Given the description of an element on the screen output the (x, y) to click on. 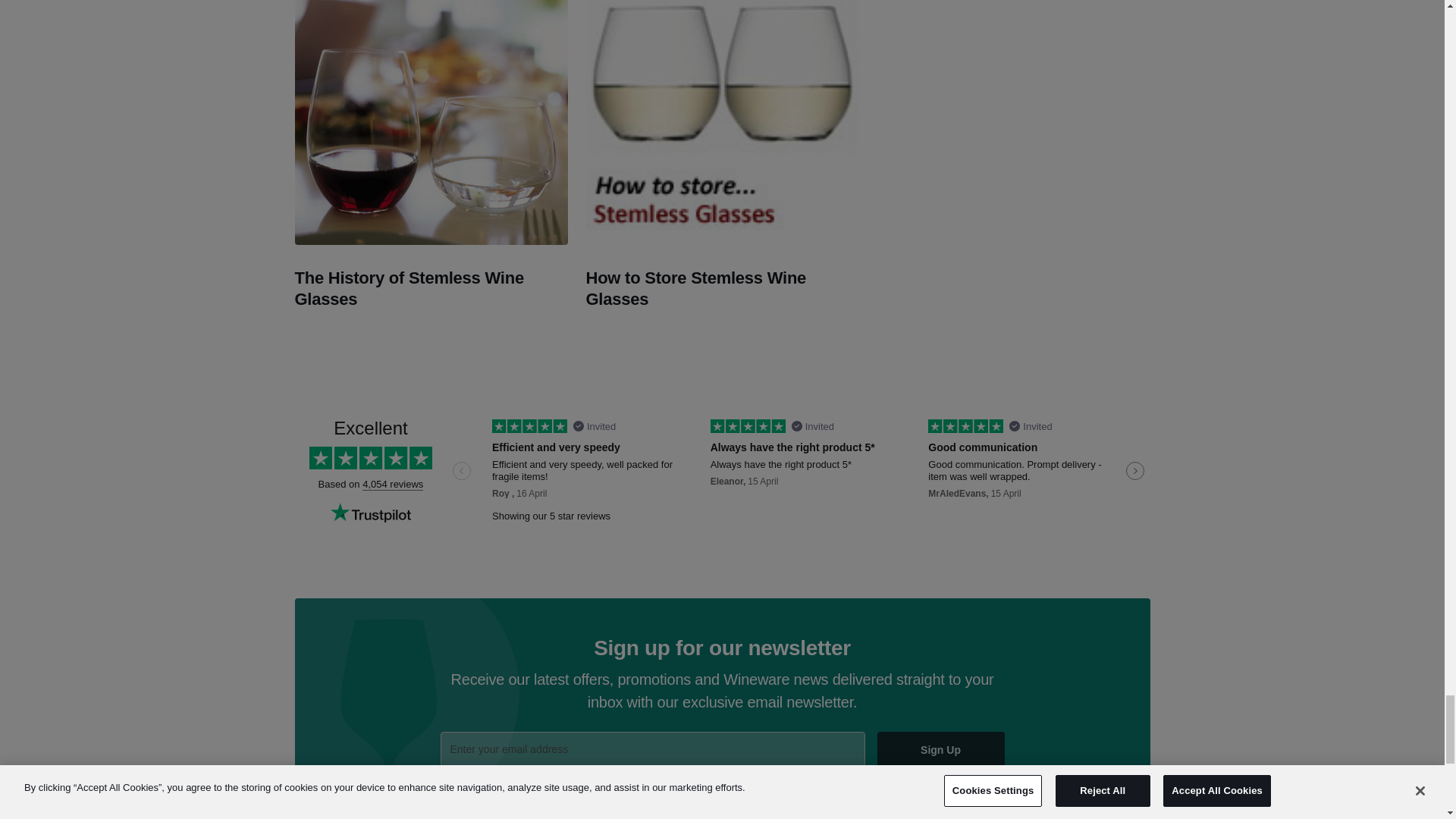
Sign Up (940, 750)
Enter your email address (651, 749)
